Given the description of an element on the screen output the (x, y) to click on. 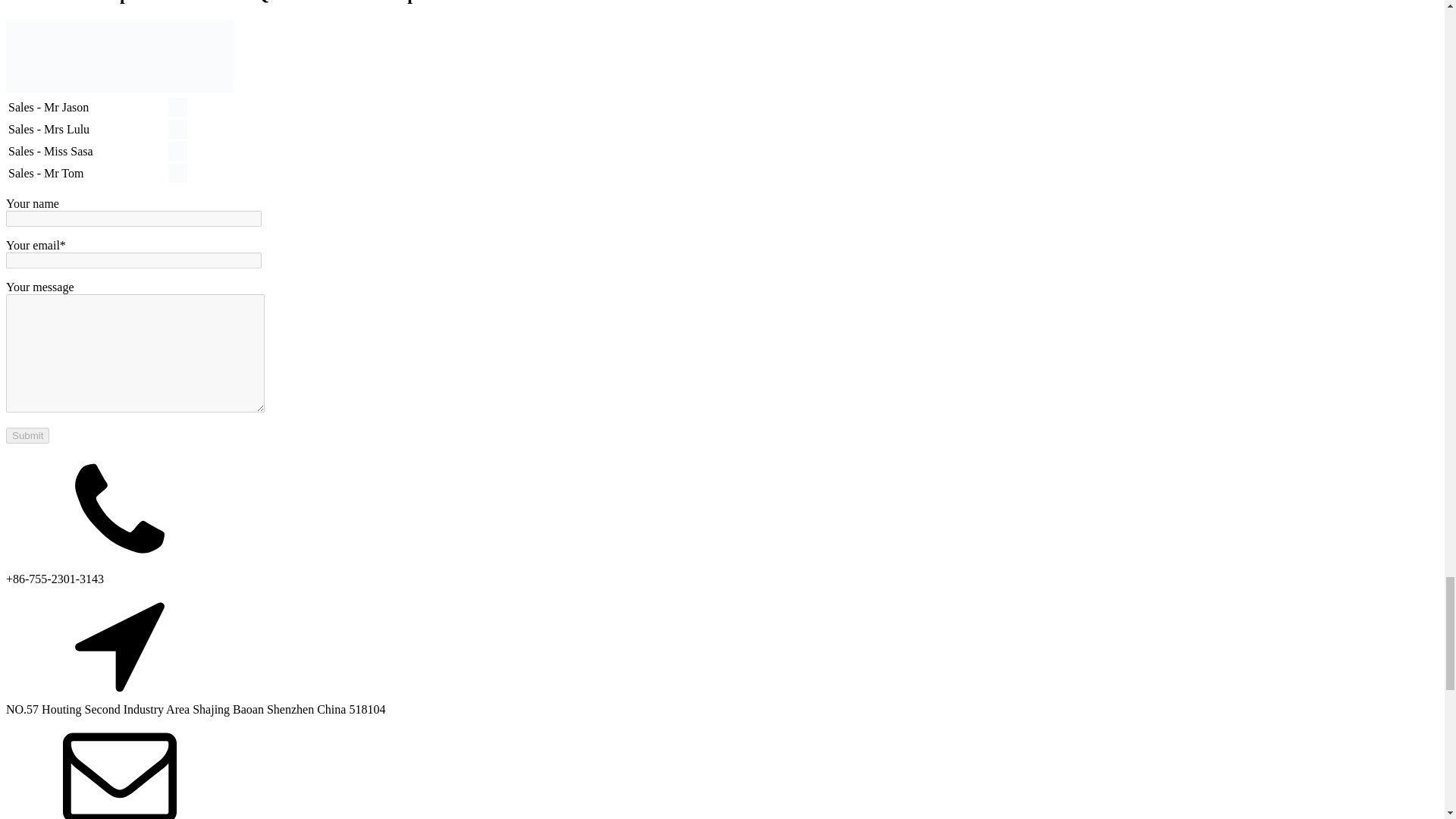
Submit (27, 435)
Submit (27, 435)
